Given the description of an element on the screen output the (x, y) to click on. 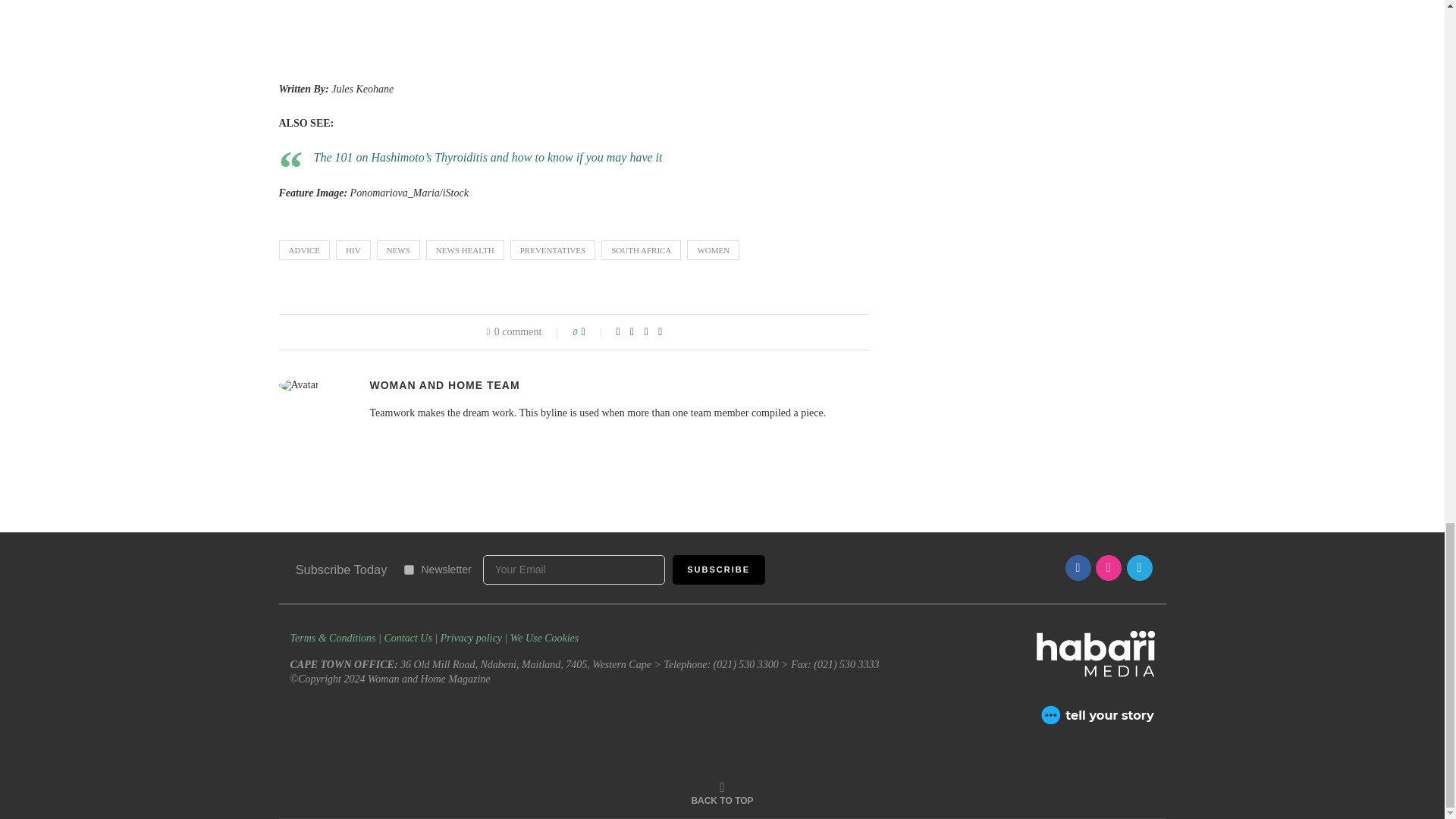
YouTube video player (491, 29)
19087 (408, 569)
Posts by Woman and Home Team (444, 385)
Subscribe (718, 569)
Like (592, 331)
